Given the description of an element on the screen output the (x, y) to click on. 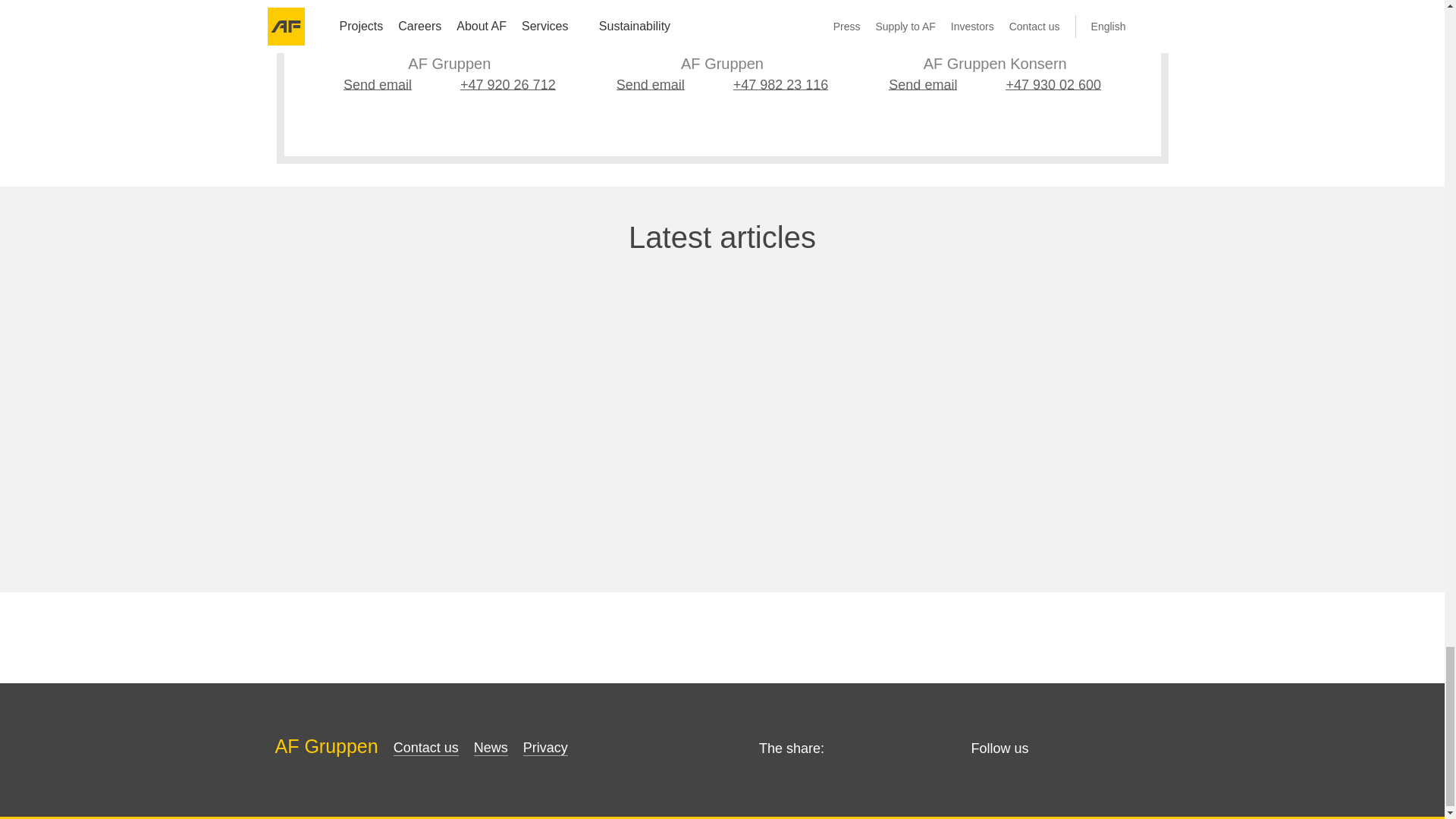
Linkedin (1059, 749)
Youtube (1160, 749)
Facebook (1093, 749)
Instagram (1126, 749)
